Given the description of an element on the screen output the (x, y) to click on. 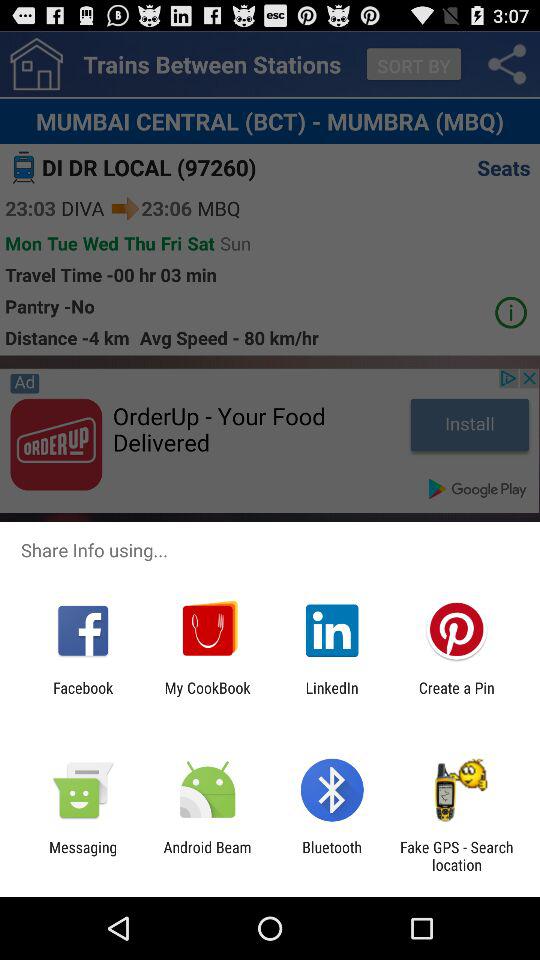
open item to the left of linkedin app (207, 696)
